Given the description of an element on the screen output the (x, y) to click on. 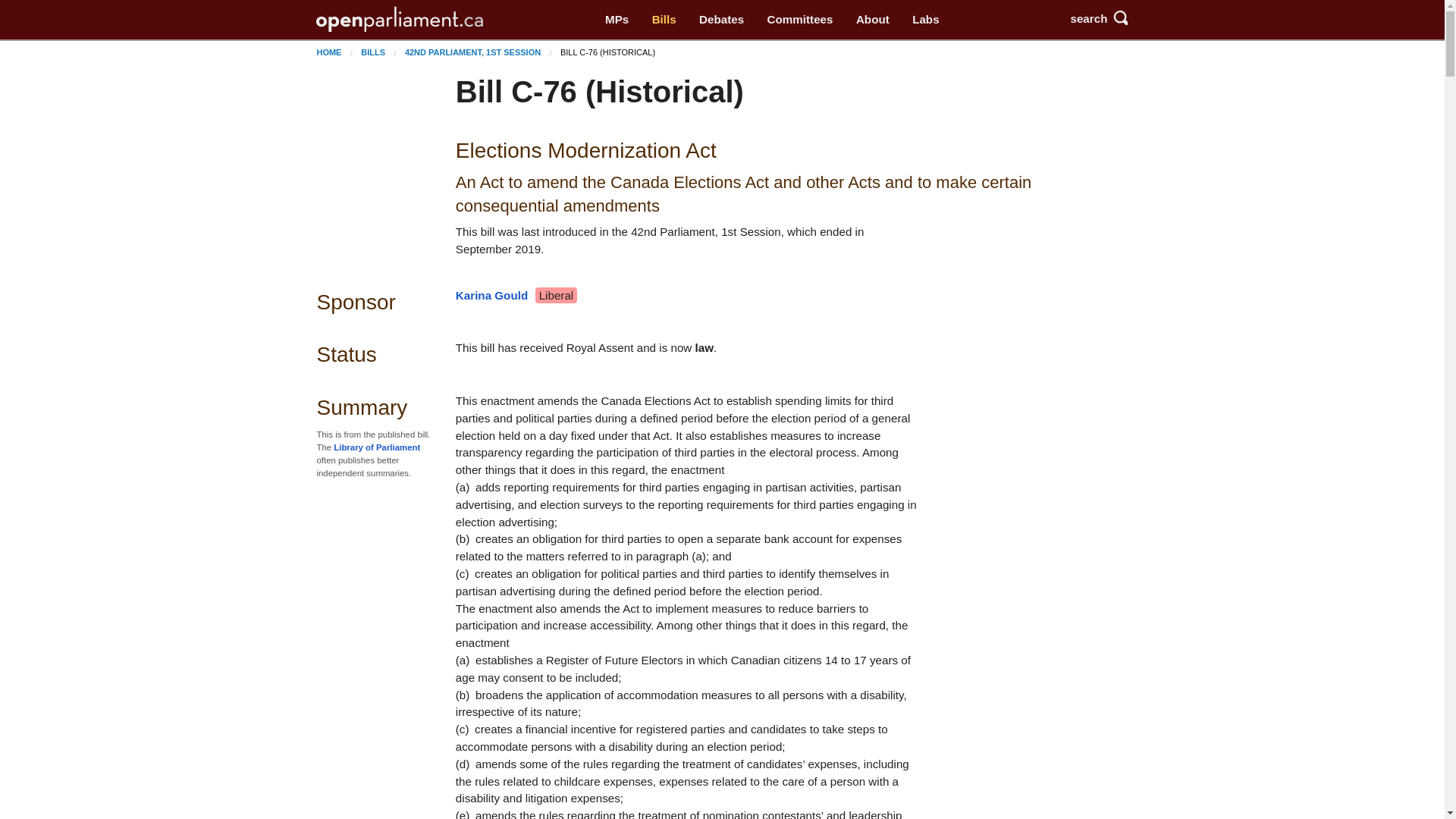
Committees (799, 19)
Labs (925, 19)
Bills (663, 19)
HOME (327, 51)
BILLS (373, 51)
MPs (617, 19)
search (1092, 18)
About (872, 19)
42ND PARLIAMENT, 1ST SESSION (472, 51)
Karina Gould (491, 295)
